Given the description of an element on the screen output the (x, y) to click on. 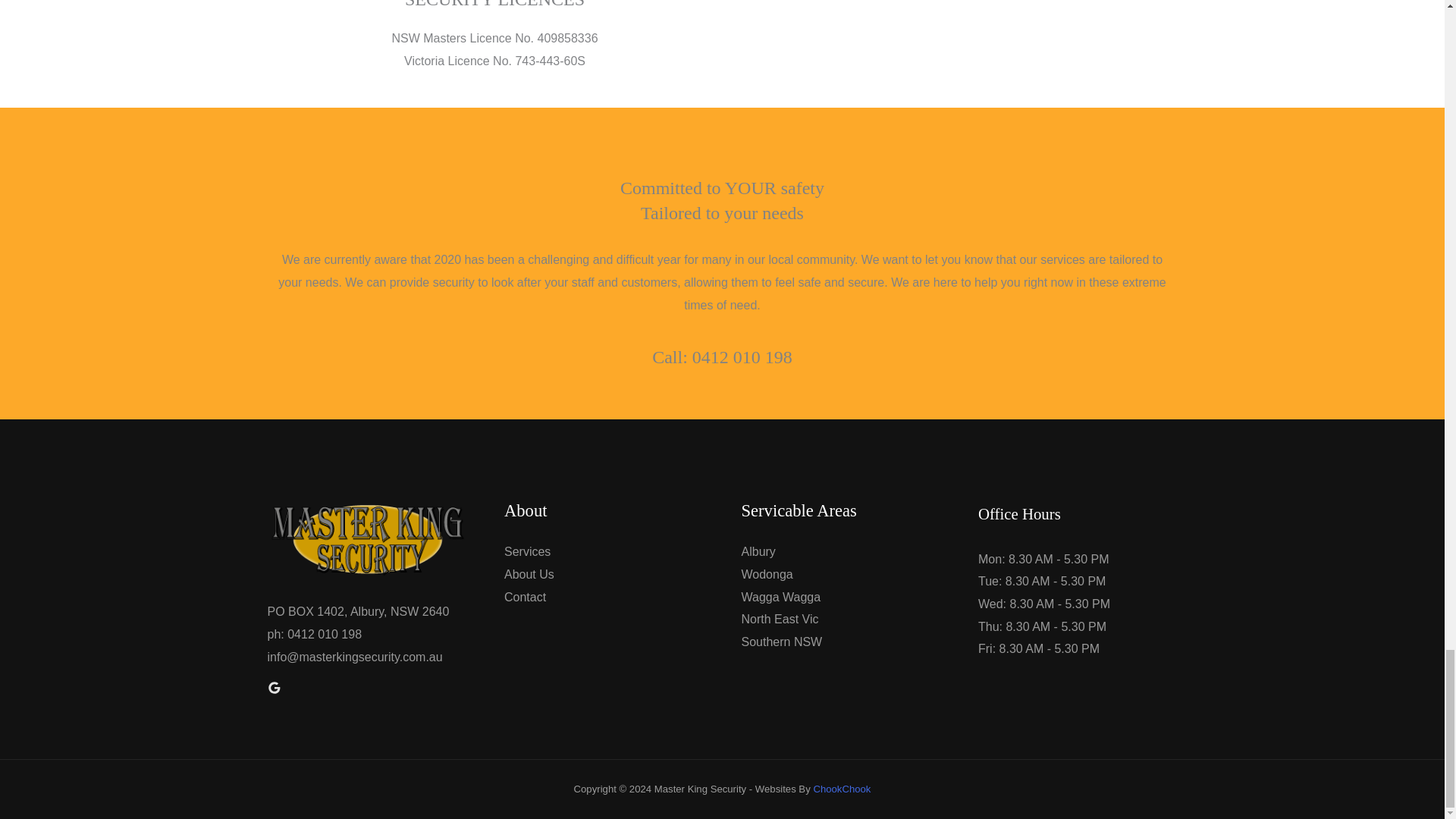
About Us (528, 574)
Services (526, 551)
Contact (524, 596)
Wodonga (767, 574)
North East Vic (779, 618)
Albury (758, 551)
Southern NSW (781, 641)
ChookChook (841, 788)
Wagga Wagga (781, 596)
